Given the description of an element on the screen output the (x, y) to click on. 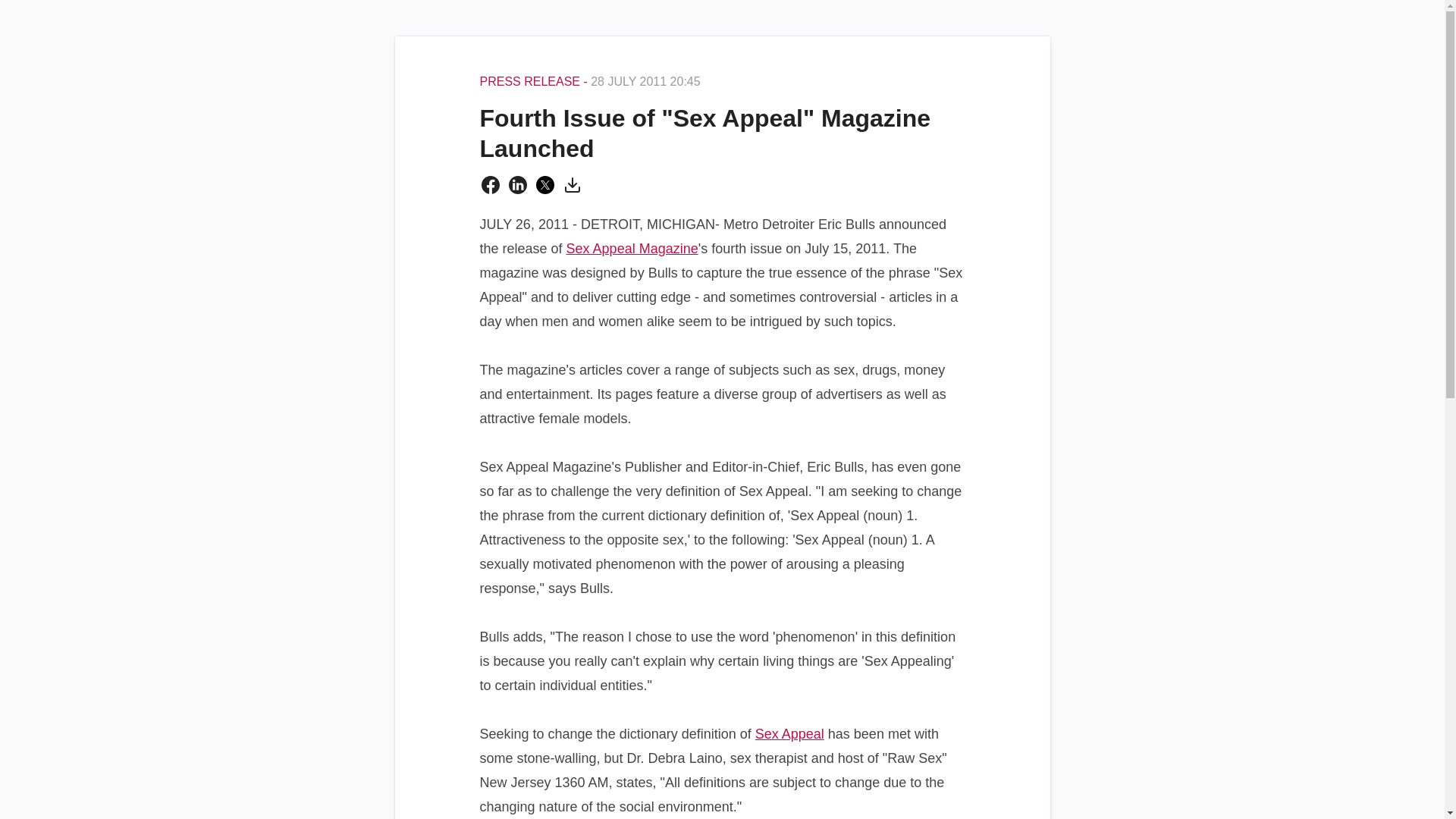
Share on Twitter (544, 185)
Sex Appeal (789, 734)
Sex Appeal Magazine (632, 248)
Share on Linkedin (516, 185)
Share on Facebook (489, 185)
Download as PDF (571, 185)
